Given the description of an element on the screen output the (x, y) to click on. 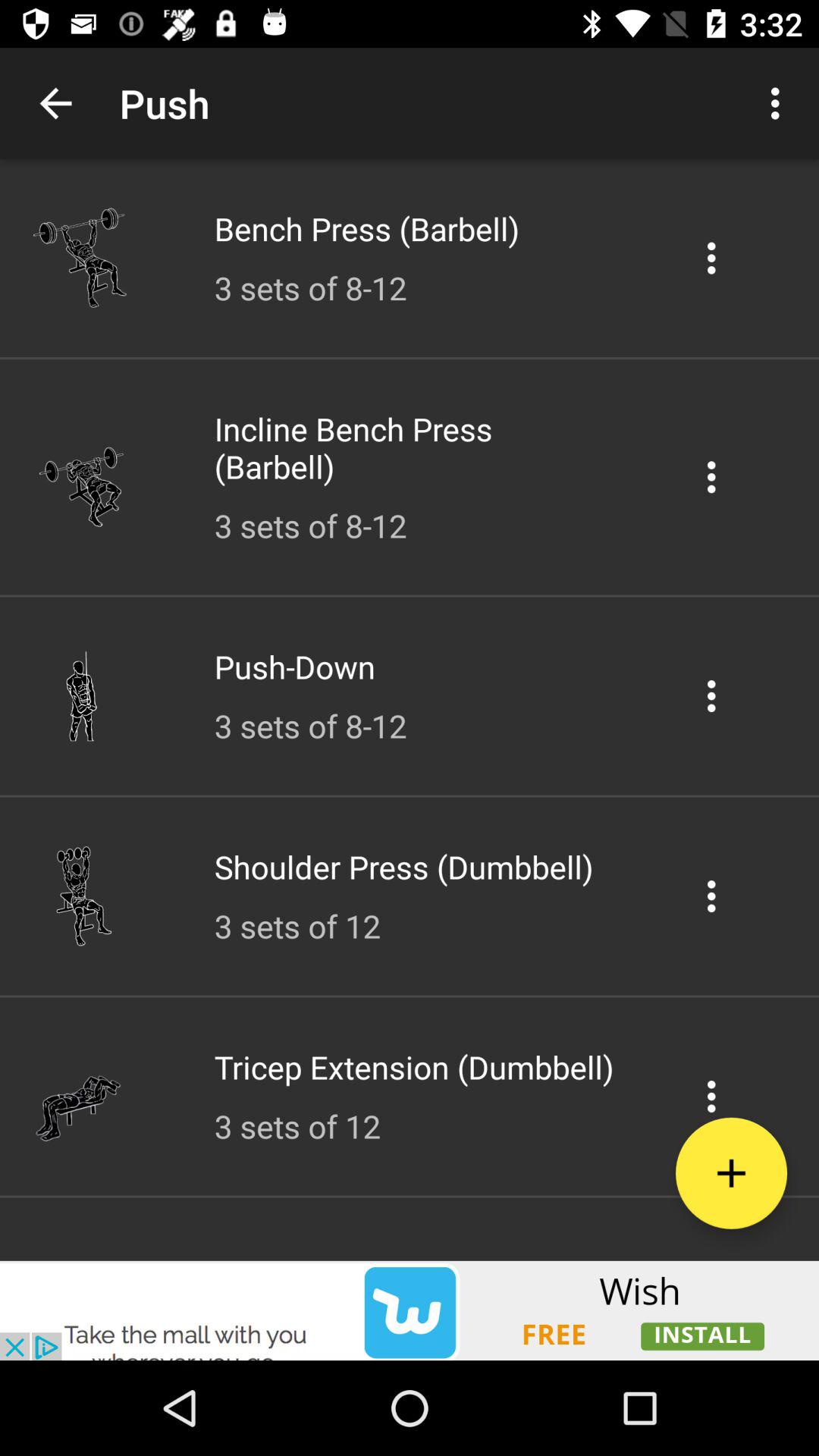
select option (711, 696)
